Given the description of an element on the screen output the (x, y) to click on. 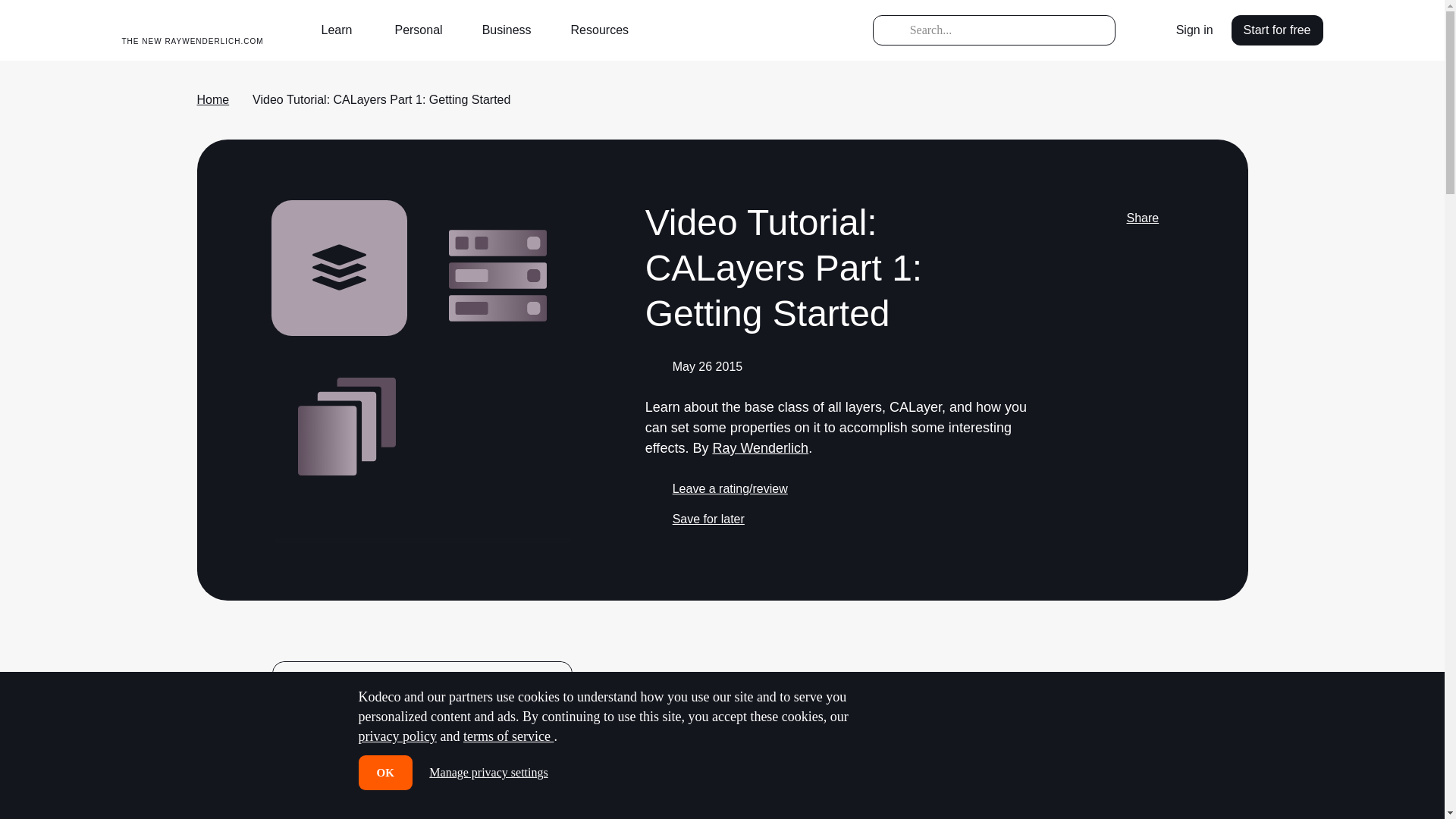
Challenge (422, 812)
Challenge (422, 812)
